Given the description of an element on the screen output the (x, y) to click on. 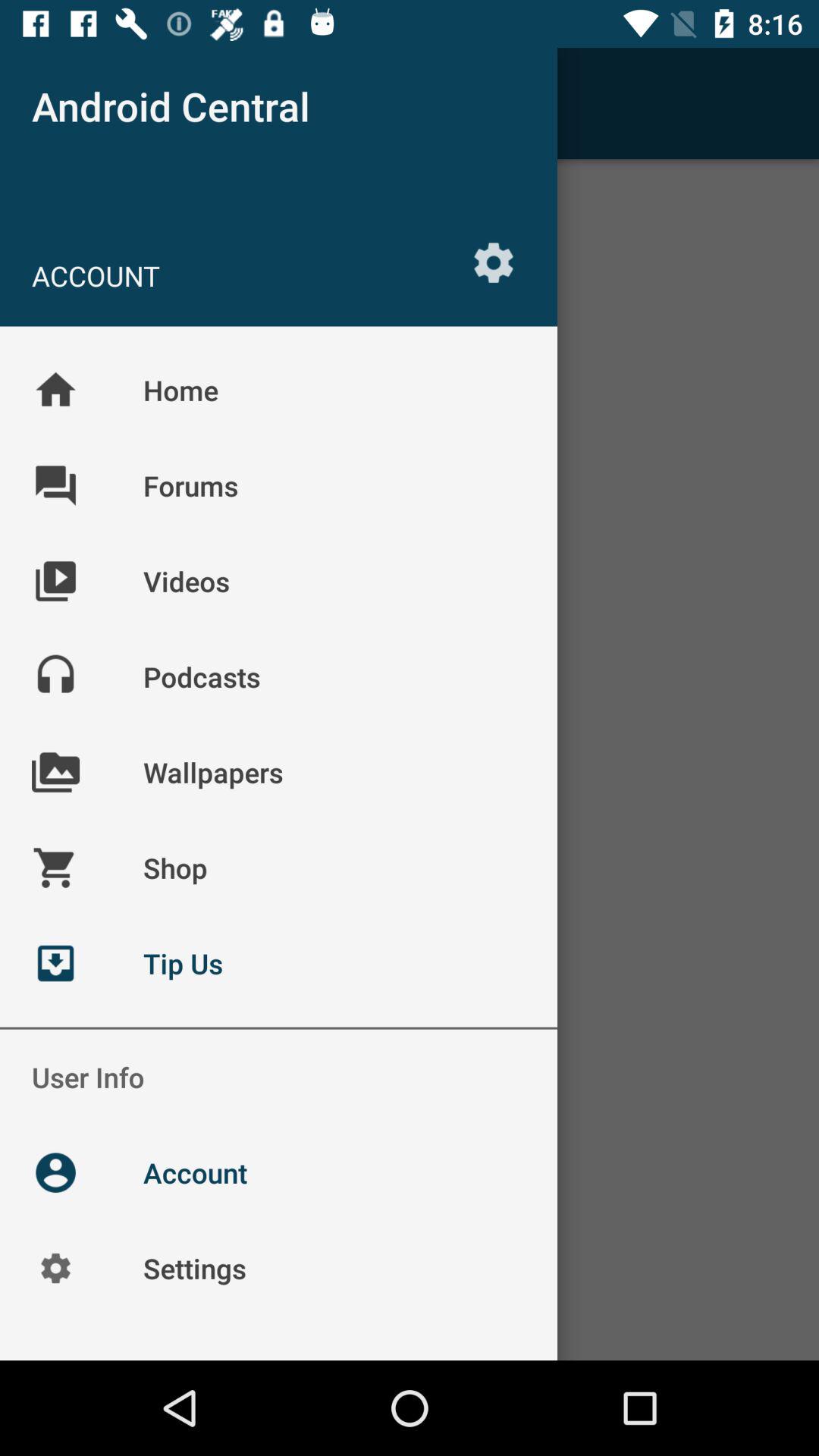
press item next to account icon (493, 262)
